Given the description of an element on the screen output the (x, y) to click on. 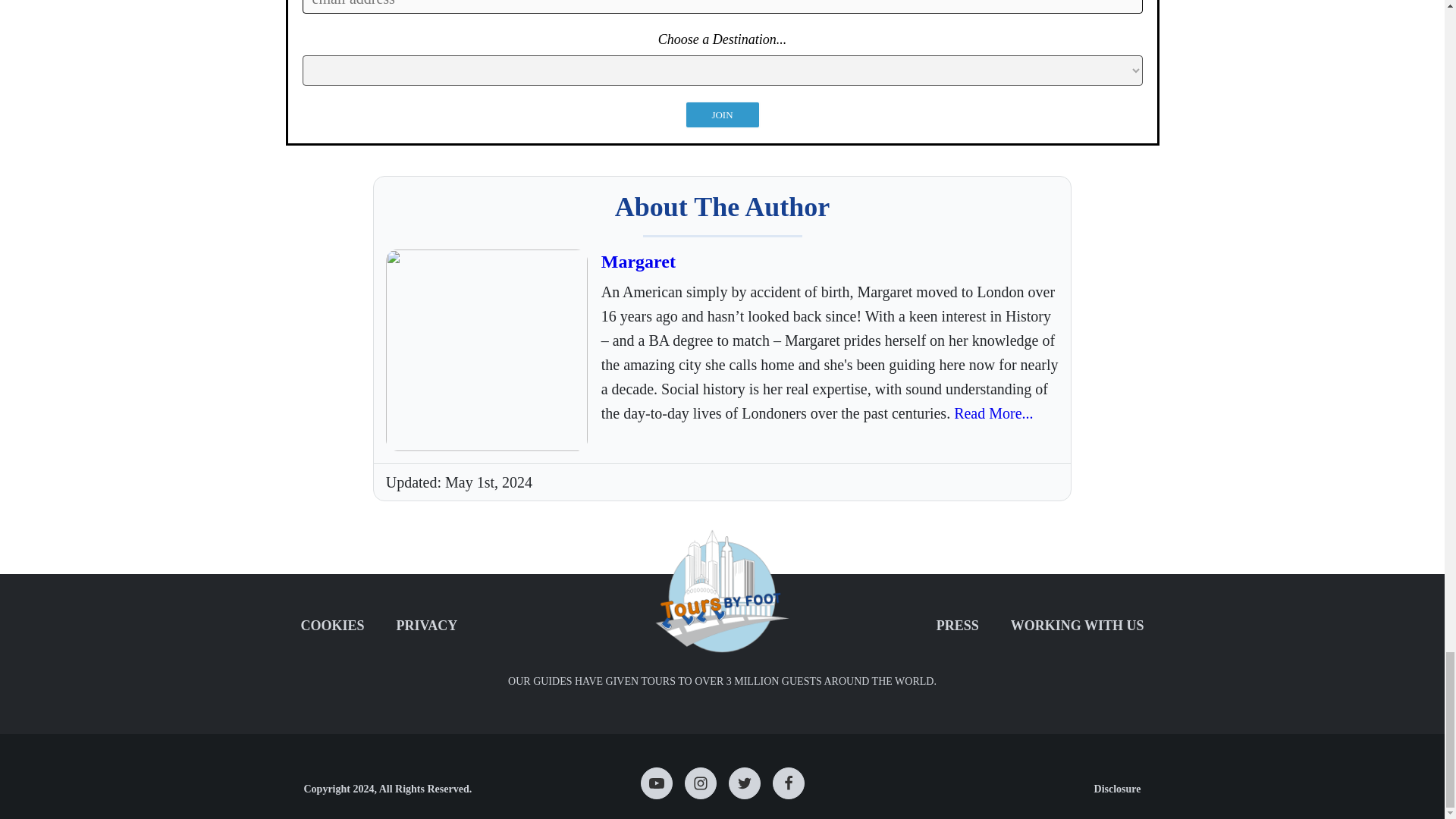
JOIN (722, 114)
